Given the description of an element on the screen output the (x, y) to click on. 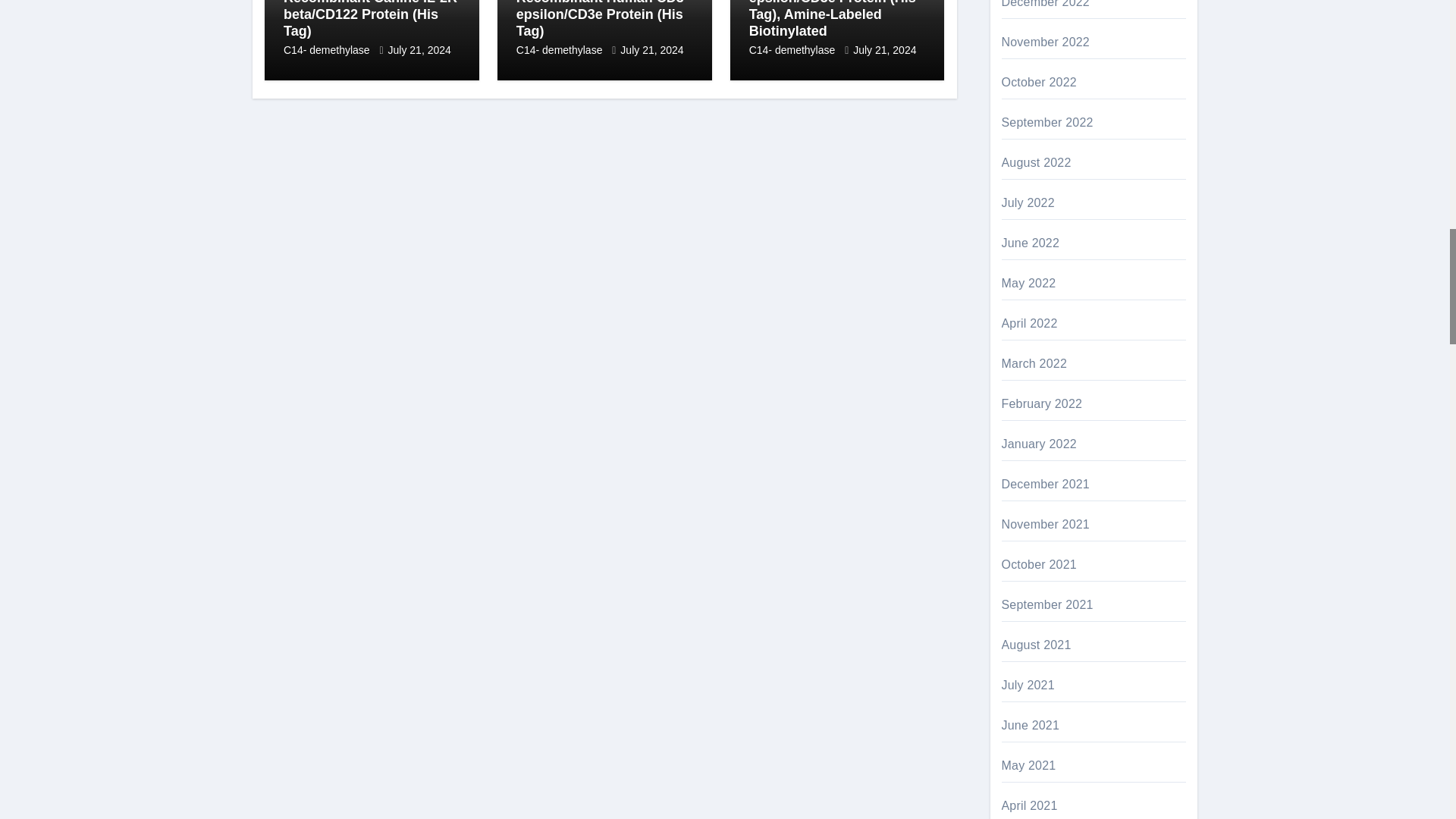
C14- demethylase (327, 50)
July 21, 2024 (419, 50)
